Given the description of an element on the screen output the (x, y) to click on. 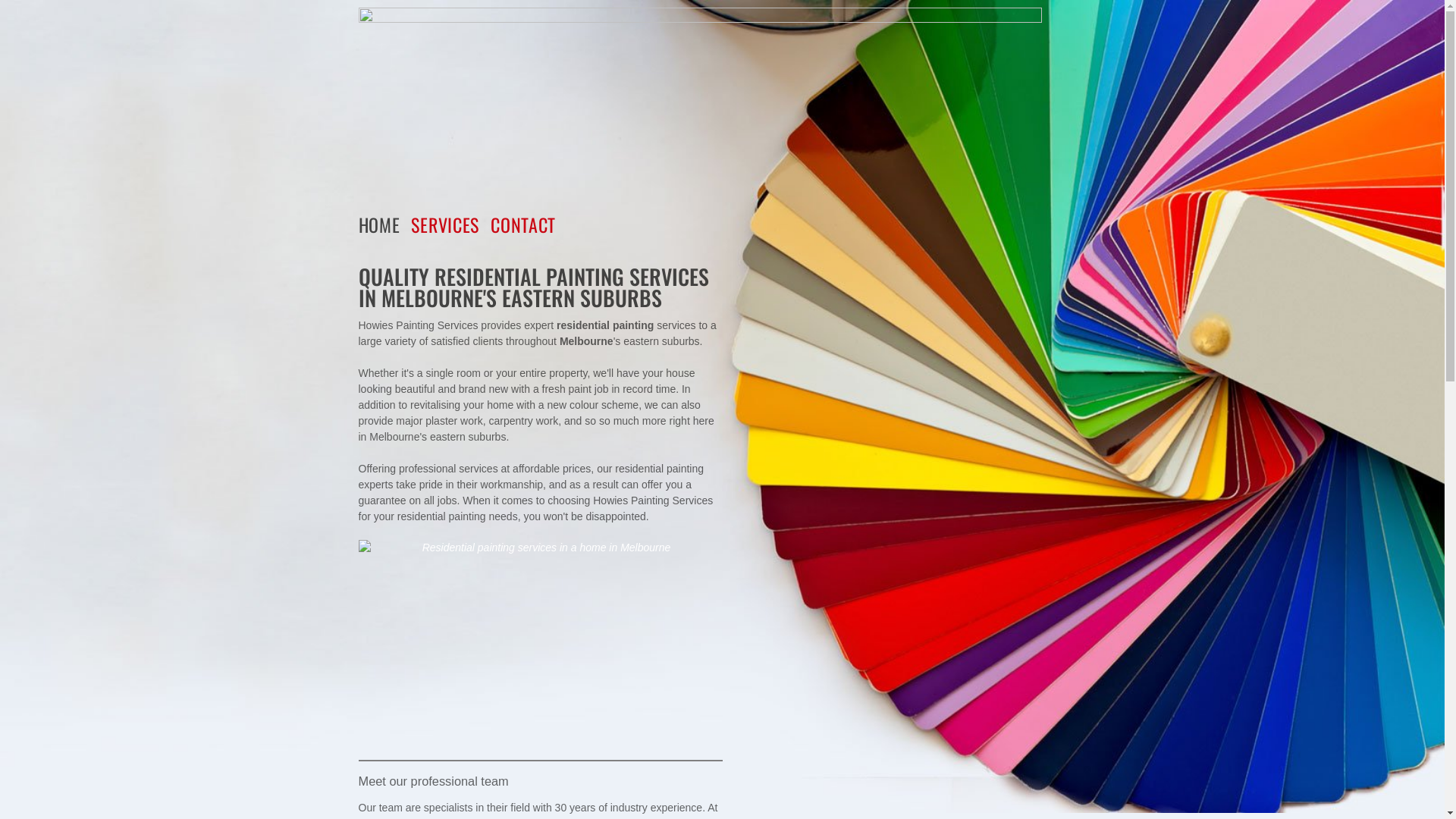
SERVICES Element type: text (450, 224)
CONTACT Element type: text (528, 224)
HOME Element type: text (384, 224)
